Given the description of an element on the screen output the (x, y) to click on. 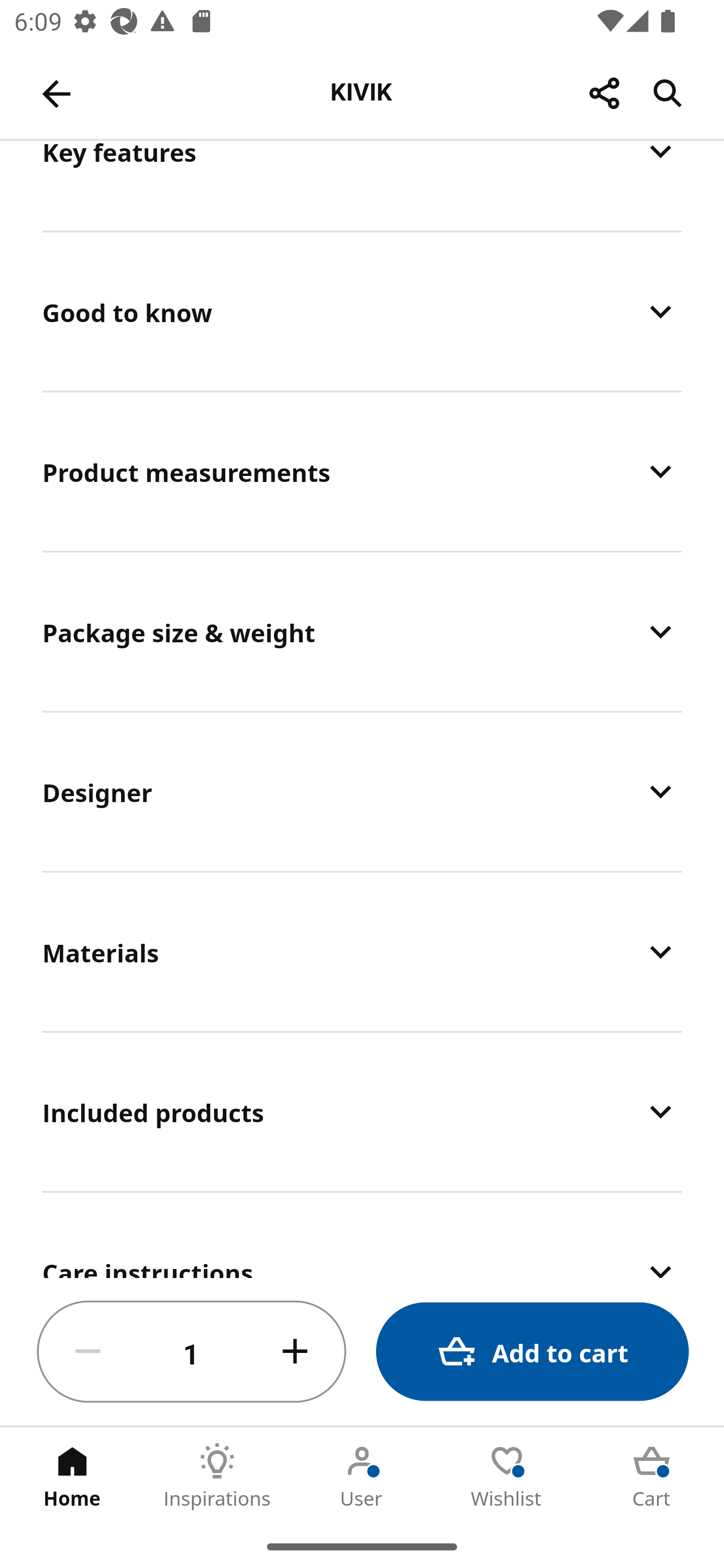
Key features (361, 184)
Good to know (361, 310)
Product measurements (361, 470)
Package size & weight (361, 631)
Designer (361, 790)
Materials (361, 951)
Included products (361, 1111)
Add to cart (531, 1352)
1 (191, 1352)
Home
Tab 1 of 5 (72, 1476)
Inspirations
Tab 2 of 5 (216, 1476)
User
Tab 3 of 5 (361, 1476)
Wishlist
Tab 4 of 5 (506, 1476)
Cart
Tab 5 of 5 (651, 1476)
